Given the description of an element on the screen output the (x, y) to click on. 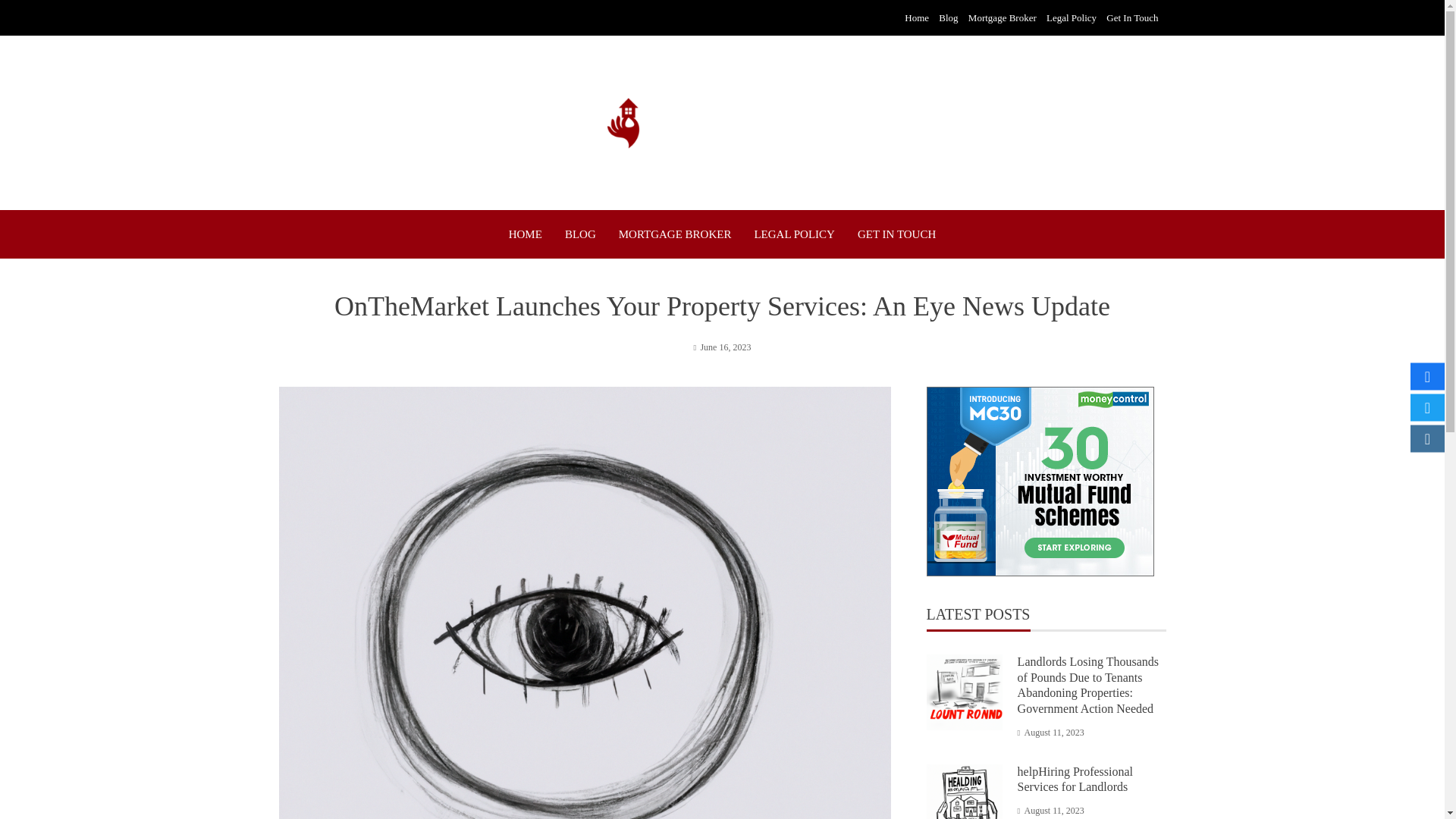
BLOG (579, 233)
Legal Policy (1071, 17)
LEGAL POLICY (794, 233)
Home (916, 17)
Get In Touch (1131, 17)
helpHiring Professional Services for Landlords (1074, 778)
HOME (524, 233)
Blog (948, 17)
GET IN TOUCH (896, 233)
Mortgage Broker (1002, 17)
MORTGAGE BROKER (675, 233)
